Given the description of an element on the screen output the (x, y) to click on. 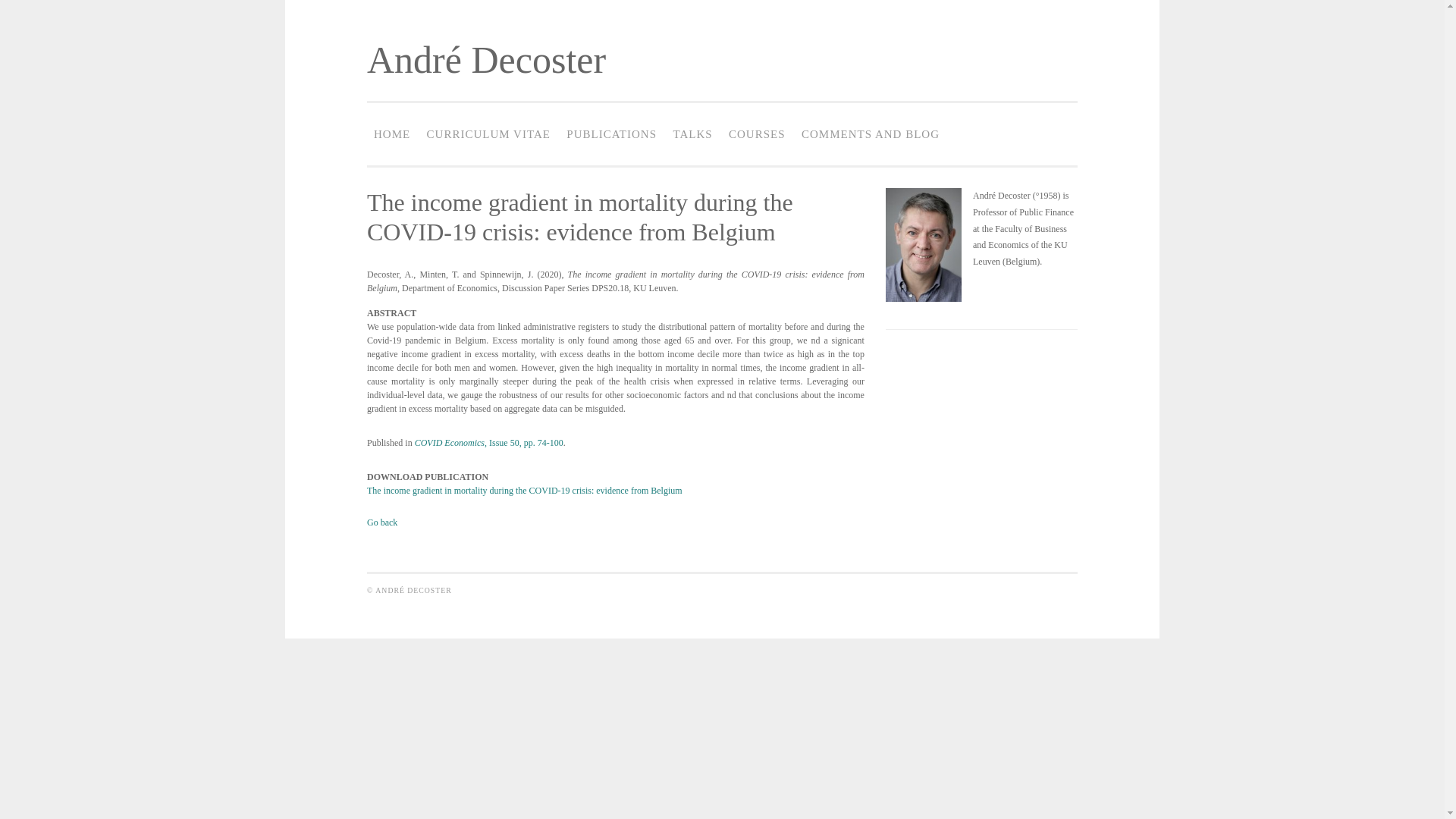
COVID Economics, Issue 50, pp. 74-100 (488, 442)
TALKS (692, 134)
HOME (391, 134)
COURSES (757, 134)
CURRICULUM VITAE (488, 134)
PUBLICATIONS (611, 134)
Go back (381, 521)
COMMENTS AND BLOG (870, 134)
